Given the description of an element on the screen output the (x, y) to click on. 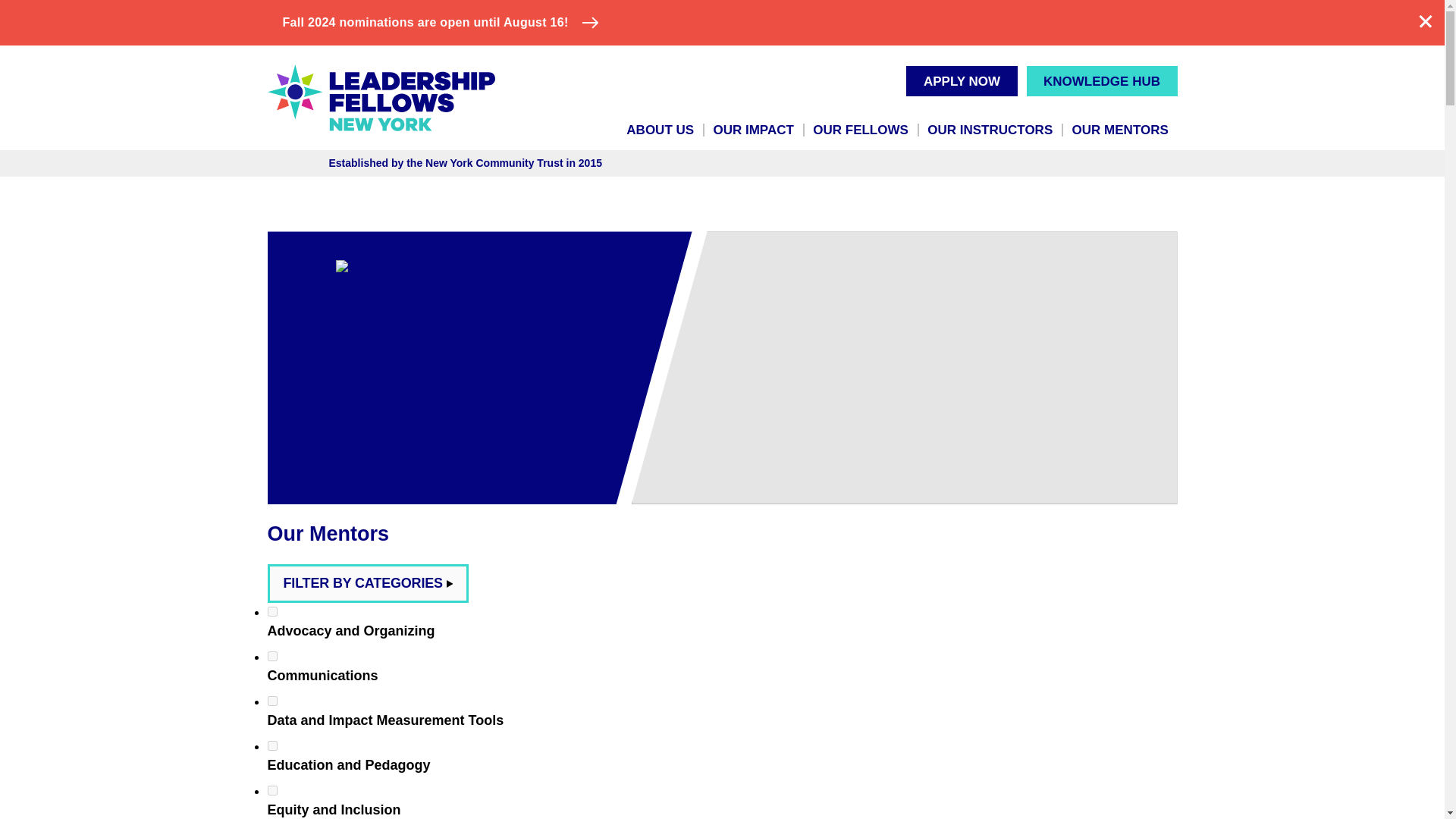
OUR FELLOWS (861, 129)
on (271, 611)
APPLY NOW (960, 81)
OUR INSTRUCTORS (989, 129)
on (271, 790)
KNOWLEDGE HUB (1101, 81)
on (271, 700)
on (271, 655)
OUR IMPACT (753, 129)
on (271, 746)
OUR MENTORS (1119, 129)
FILTER BY CATEGORIES (367, 583)
ABOUT US (660, 129)
